Given the description of an element on the screen output the (x, y) to click on. 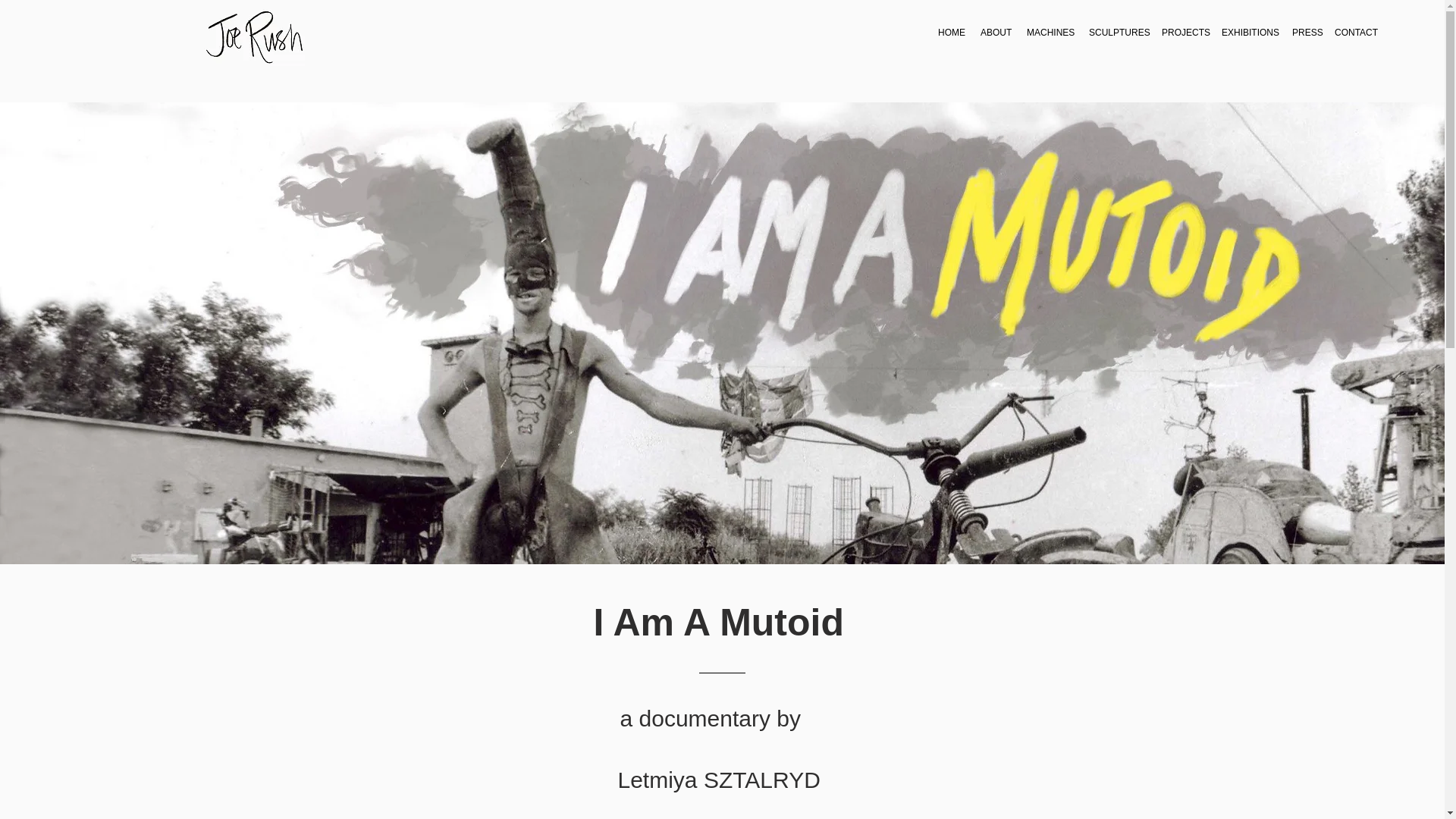
ABOUT (995, 32)
EXHIBITIONS (1249, 32)
PRESS (1305, 32)
HOME (951, 32)
CONTACT (1355, 32)
SCULPTURES (1117, 32)
PROJECTS (1184, 32)
MACHINES (1050, 32)
